Given the description of an element on the screen output the (x, y) to click on. 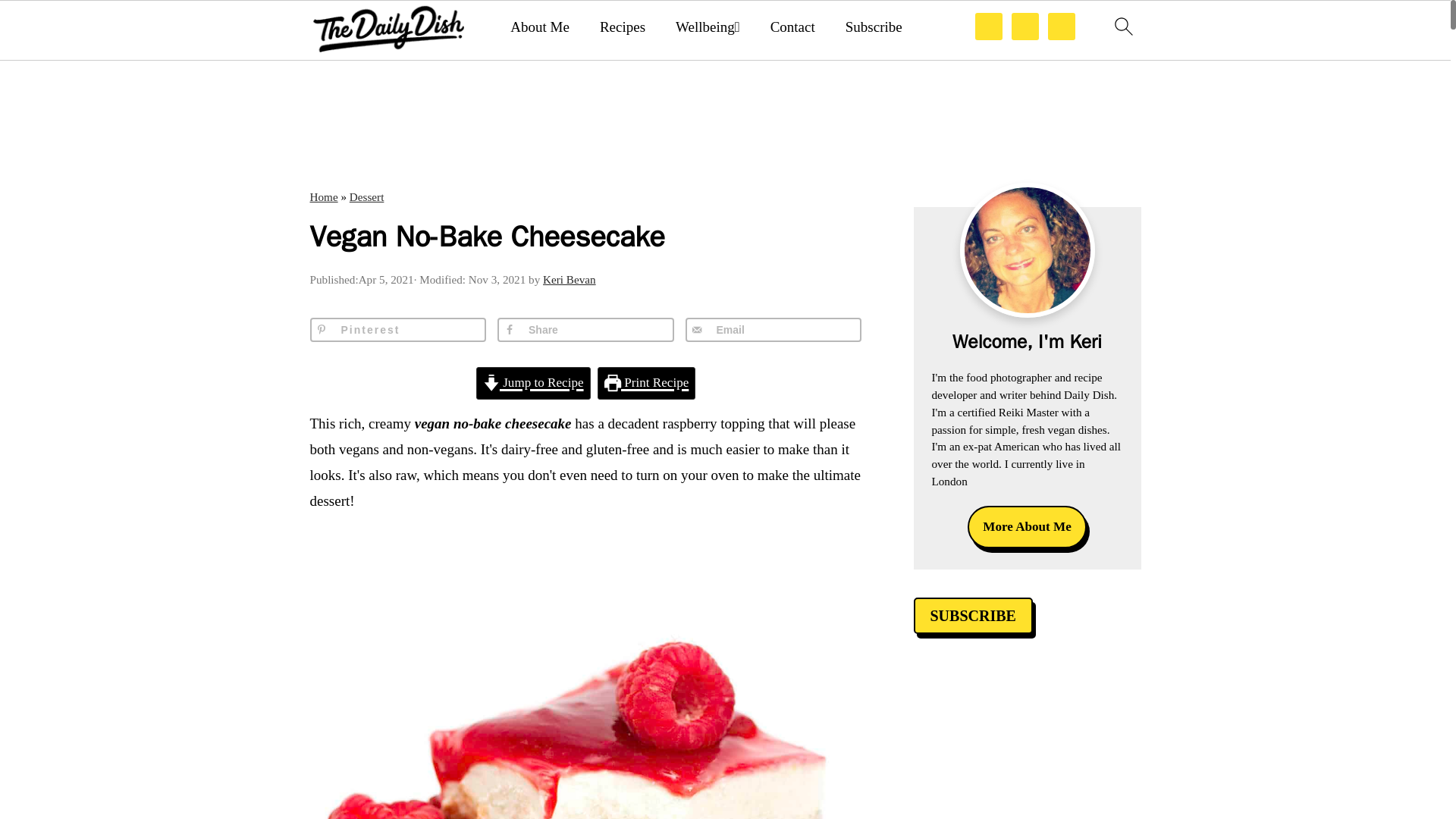
Contact (792, 27)
About Me (540, 27)
Recipes (622, 27)
search icon (1122, 26)
Home (322, 196)
Subscribe (873, 27)
Share on Facebook (585, 329)
Save to Pinterest (397, 329)
Send over email (773, 329)
